Given the description of an element on the screen output the (x, y) to click on. 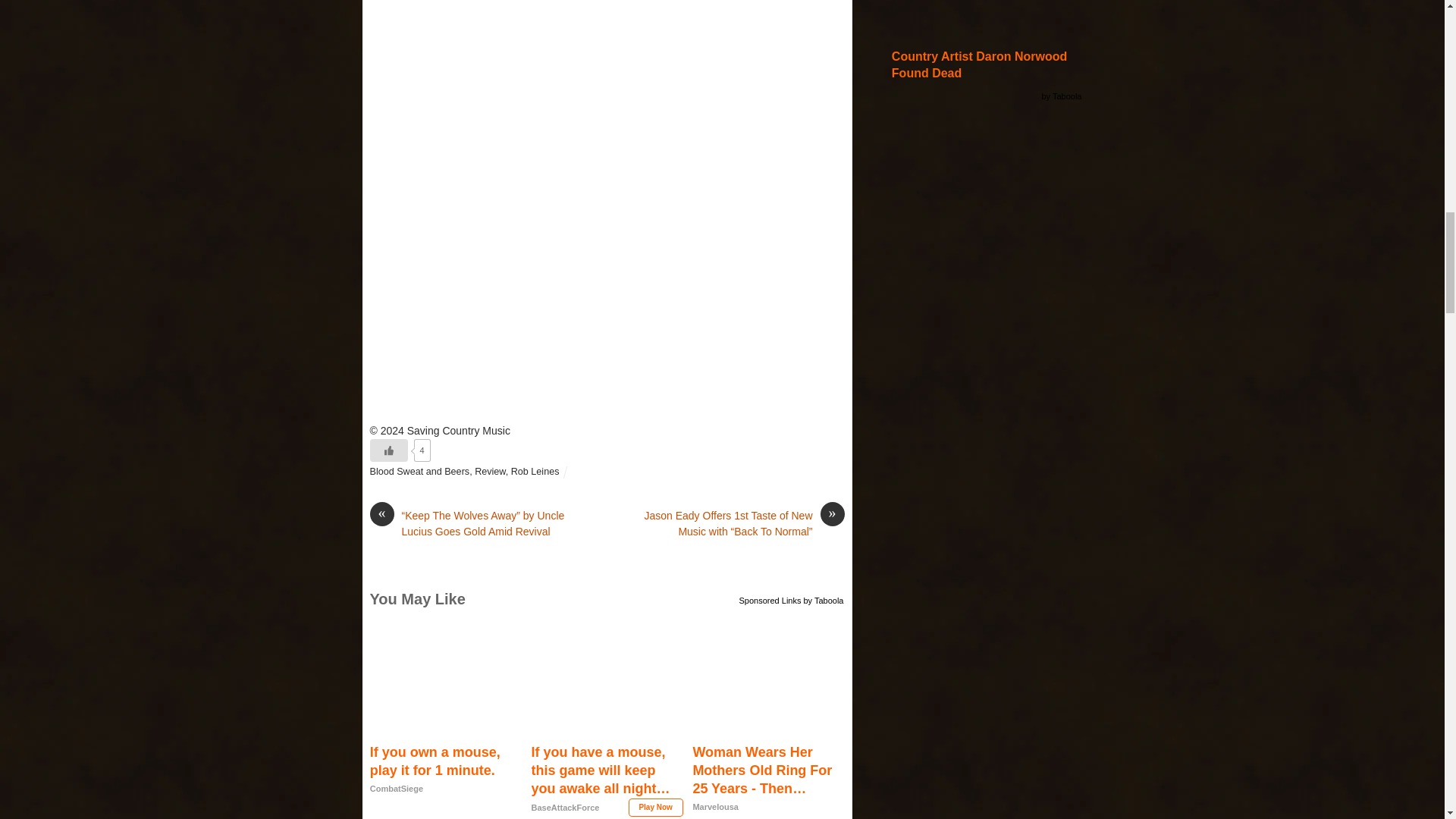
Country Artist Daron Norwood Found Dead (987, 64)
Sponsored Links (770, 597)
by Taboola (823, 597)
Blood Sweat and Beers (419, 471)
Review (489, 471)
YouTube video player (606, 81)
YouTube video player (606, 293)
